Given the description of an element on the screen output the (x, y) to click on. 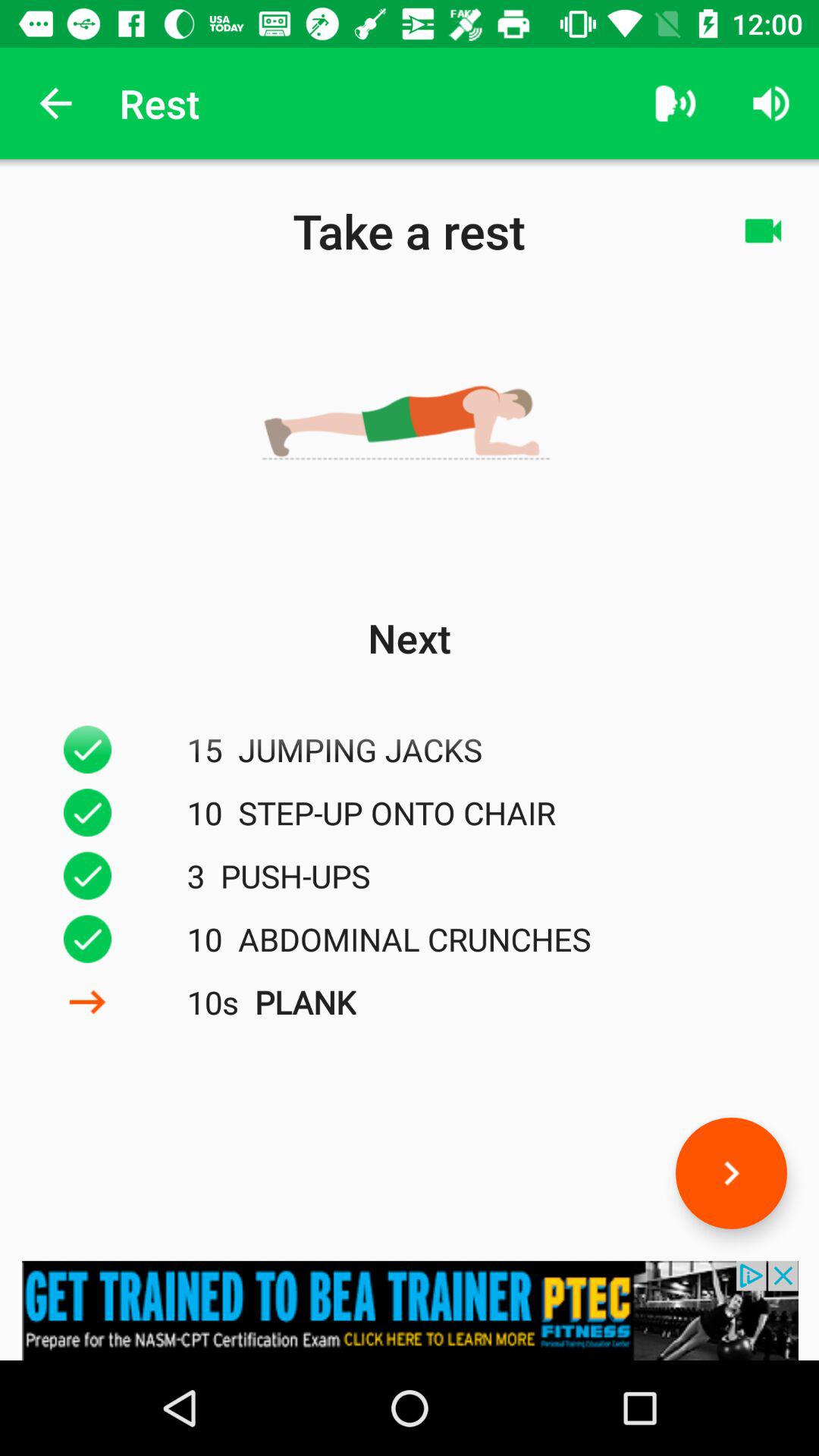
utilize camera (763, 230)
